Given the description of an element on the screen output the (x, y) to click on. 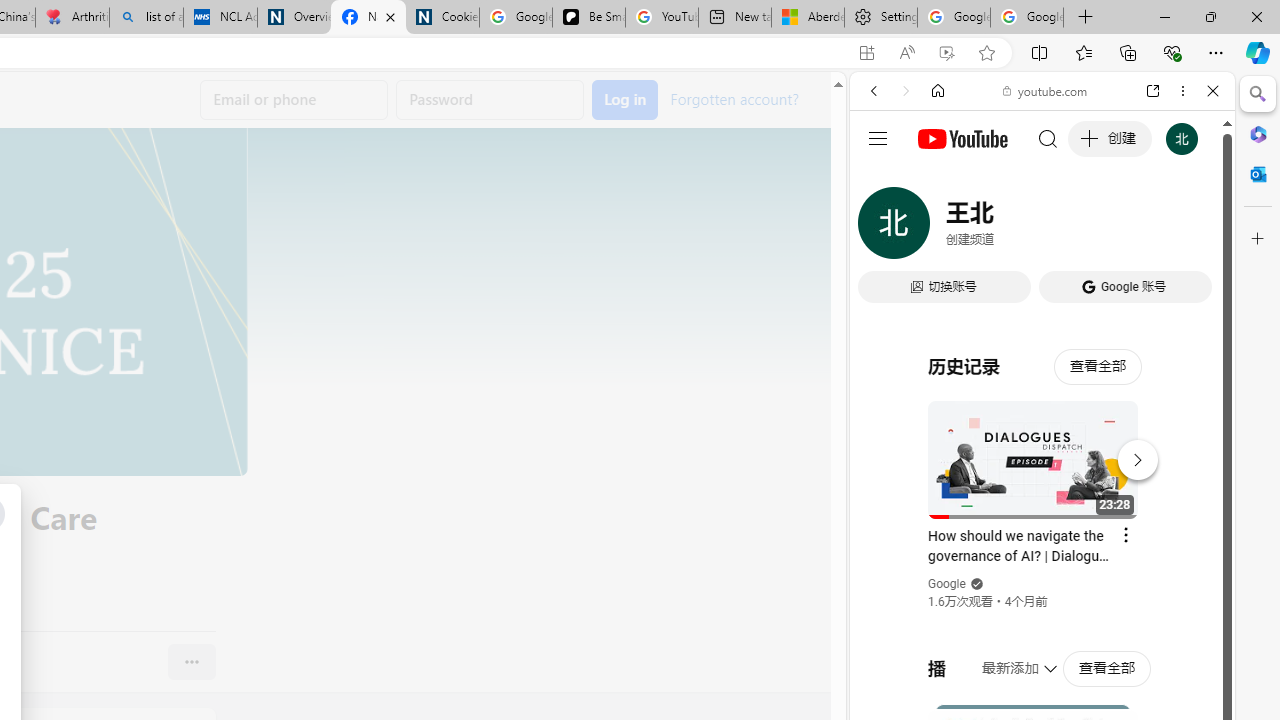
Forgotten account? (733, 97)
youtube.com (1046, 90)
Password (489, 99)
Aberdeen, Hong Kong SAR hourly forecast | Microsoft Weather (807, 17)
#you (1042, 445)
Show More Music (1164, 546)
